Given the description of an element on the screen output the (x, y) to click on. 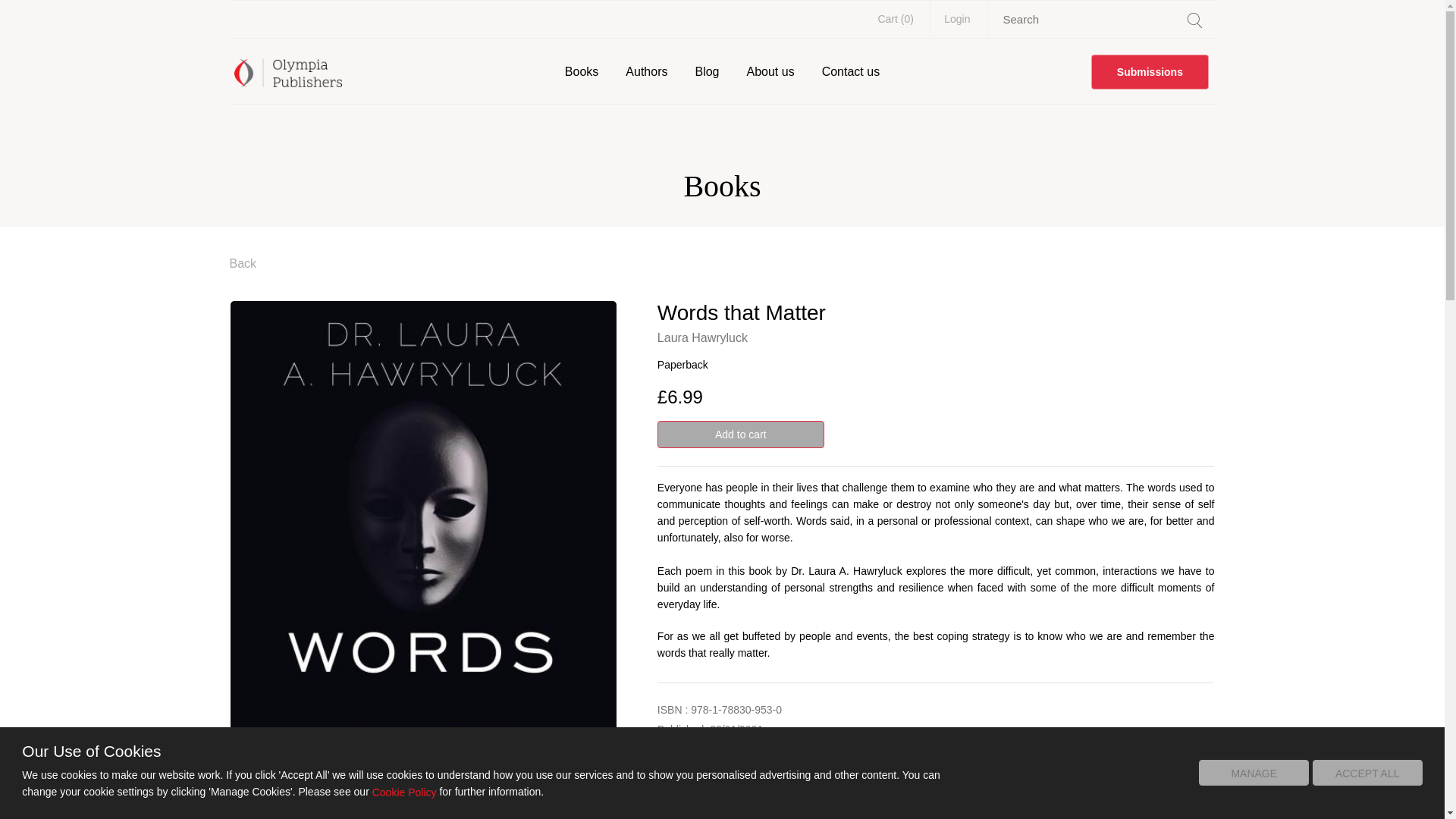
Submissions (1149, 71)
Contact us (849, 71)
Blog (706, 71)
Login (957, 18)
Authors (646, 71)
Books (581, 71)
About us (769, 71)
